Given the description of an element on the screen output the (x, y) to click on. 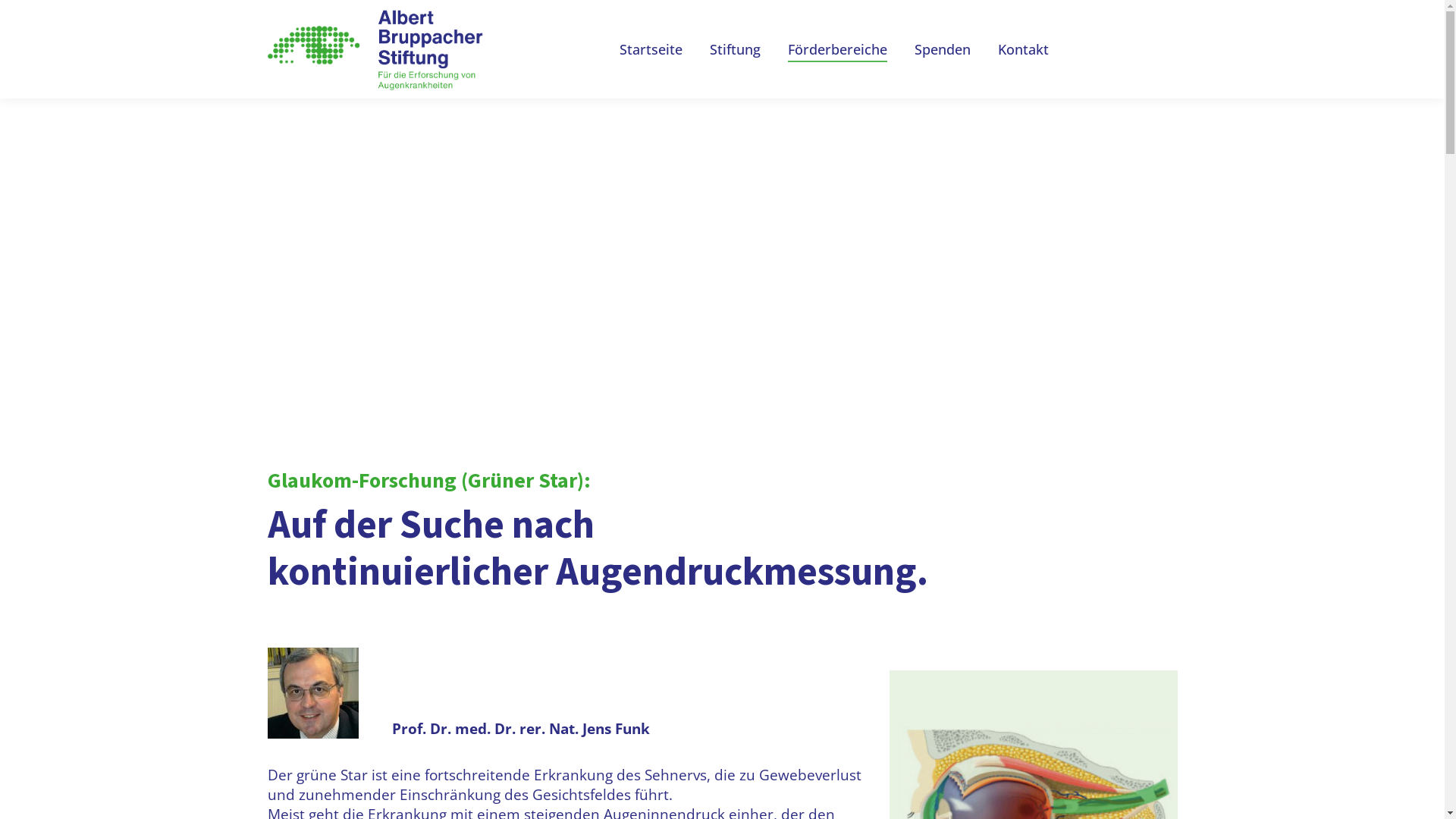
funk-klein Element type: hover (311, 692)
Spenden Element type: text (942, 48)
Kontakt Element type: text (1022, 48)
Startseite Element type: text (650, 48)
Stiftung Element type: text (734, 48)
